Given the description of an element on the screen output the (x, y) to click on. 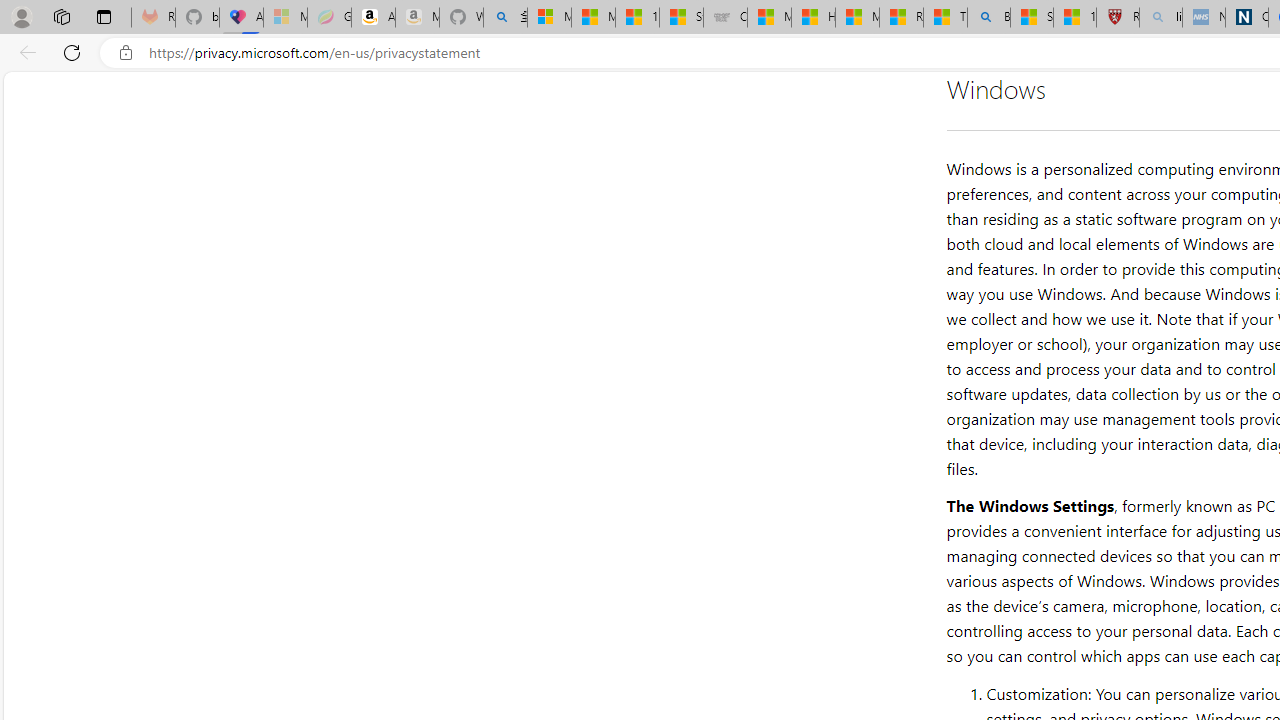
Robert H. Shmerling, MD - Harvard Health (1118, 17)
How I Got Rid of Microsoft Edge's Unnecessary Features (813, 17)
